Given the description of an element on the screen output the (x, y) to click on. 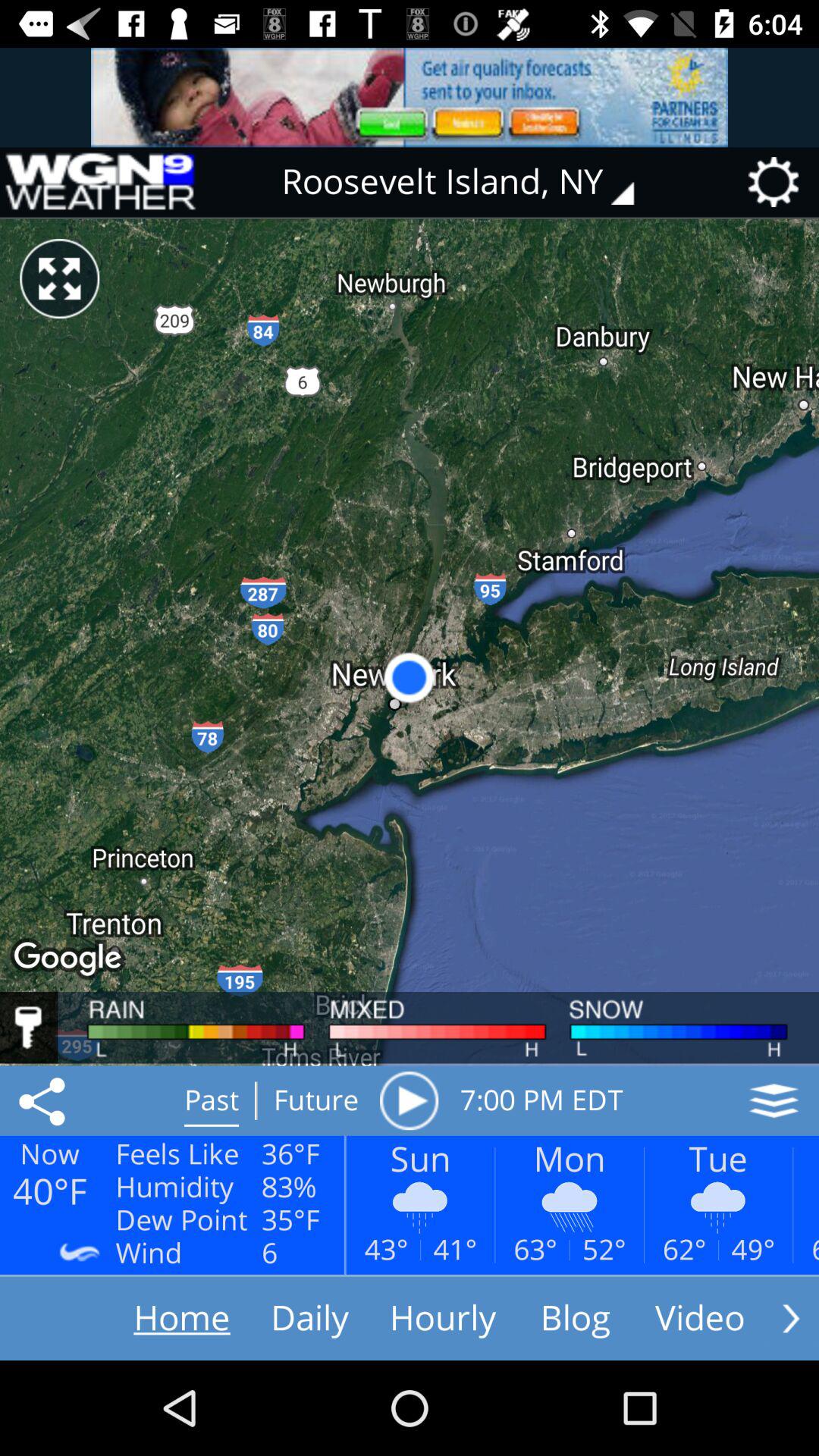
click icon to the right of future (409, 1100)
